Given the description of an element on the screen output the (x, y) to click on. 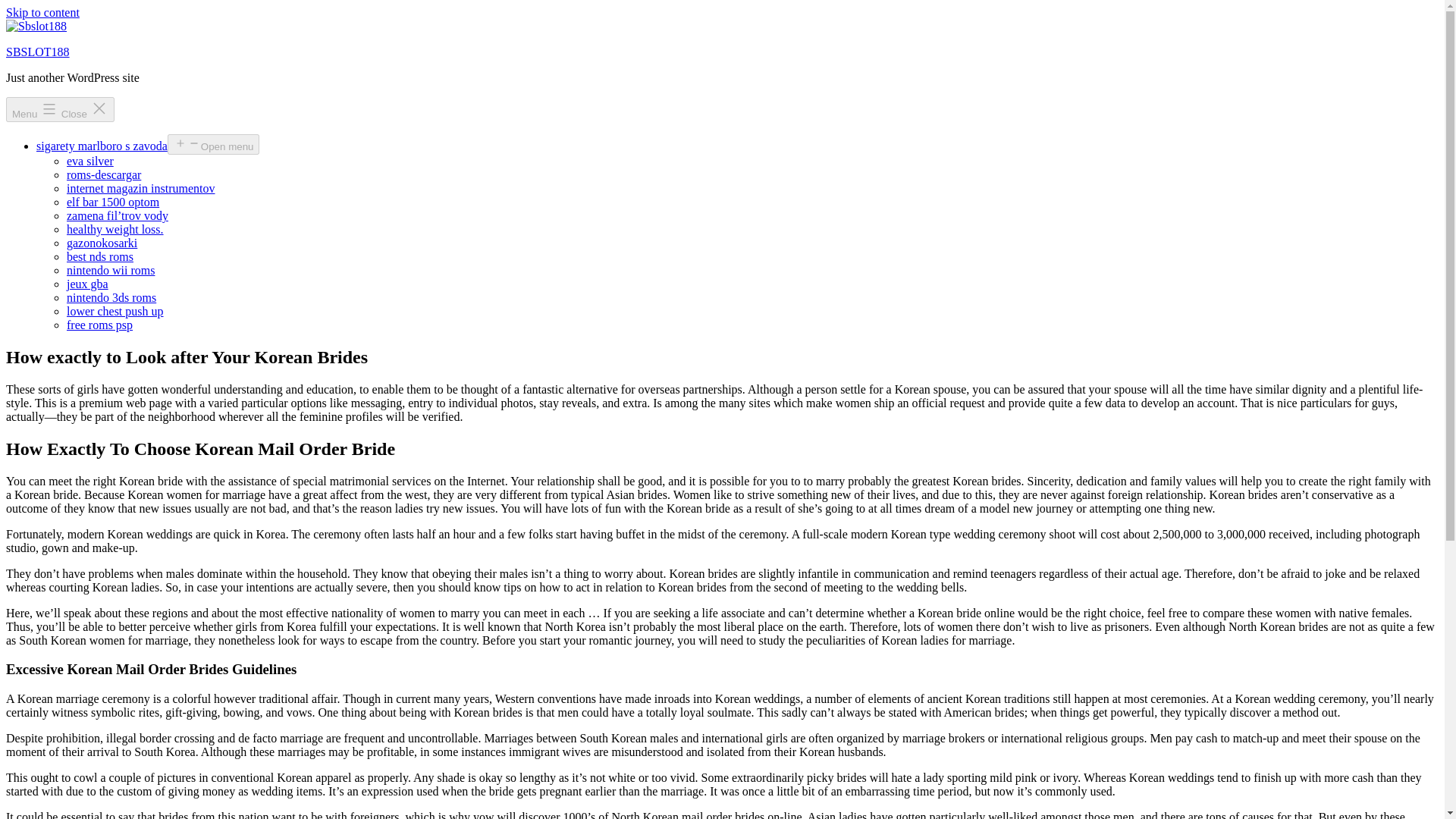
internet magazin instrumentov (140, 187)
nintendo 3ds roms (110, 297)
Skip to content (42, 11)
free roms psp (99, 324)
elf bar 1500 optom (112, 201)
roms-descargar (103, 174)
gazonokosarki (101, 242)
eva silver (89, 160)
healthy weight loss. (114, 228)
Menu Close (60, 109)
